Given the description of an element on the screen output the (x, y) to click on. 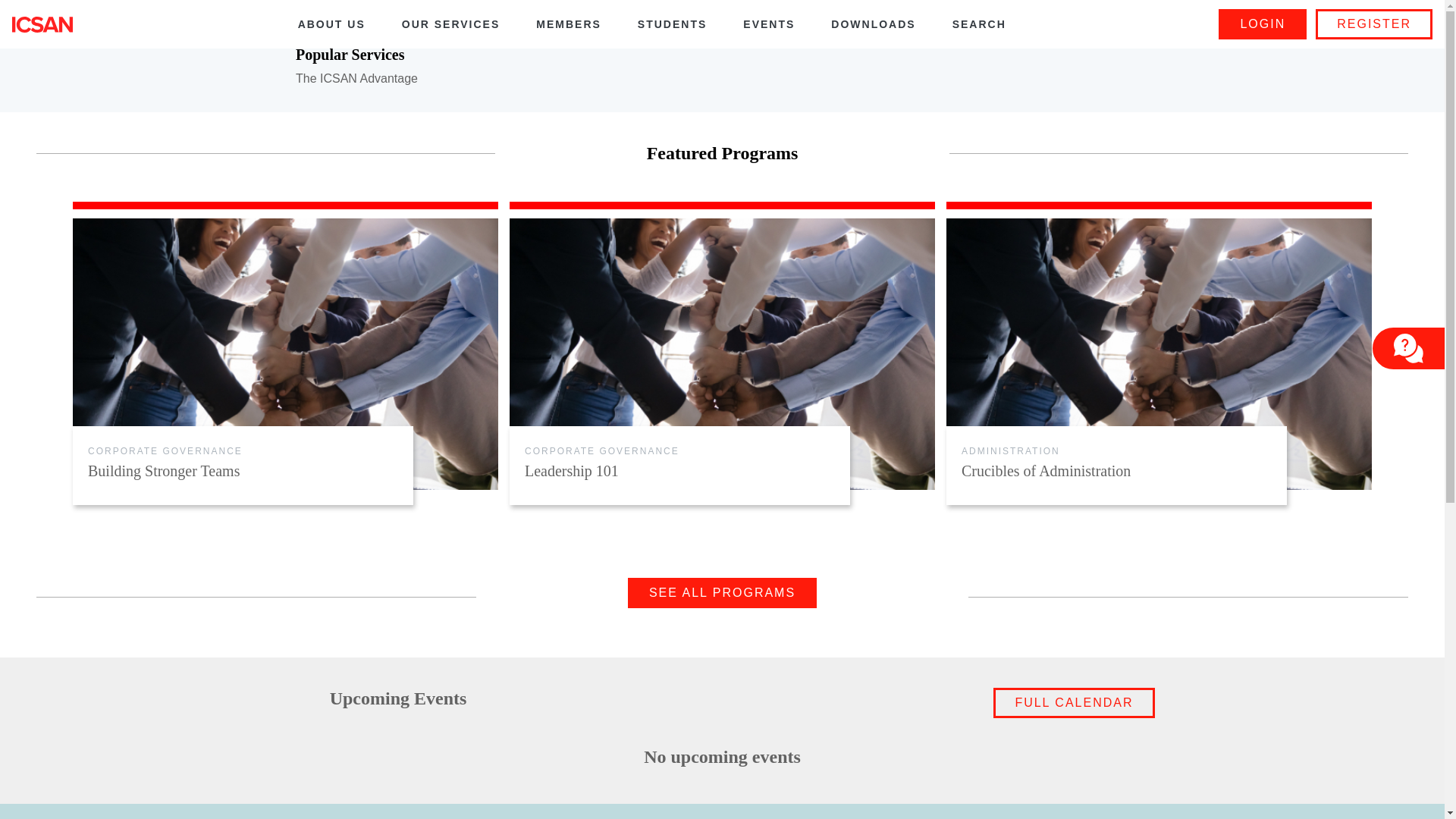
STUDENTS Element type: text (671, 24)
DOWNLOADS Element type: text (873, 24)
Leadership 101 Element type: text (679, 470)
SEARCH Element type: text (979, 24)
FULL CALENDAR Element type: text (1073, 702)
OUR SERVICES Element type: text (450, 24)
SEE ALL PROGRAMS Element type: text (721, 592)
MEMBERS Element type: text (568, 24)
CORPORATE GOVERNANCE Element type: text (164, 450)
ADMINISTRATION Element type: text (1010, 450)
REGISTER Element type: text (1373, 24)
EVENTS Element type: text (768, 24)
ABOUT US Element type: text (331, 24)
LOGIN Element type: text (1262, 24)
Building Stronger Teams Element type: text (242, 470)
CORPORATE GOVERNANCE Element type: text (601, 450)
Navbar Element type: text (42, 24)
Crucibles of Administration Element type: text (1116, 470)
